Given the description of an element on the screen output the (x, y) to click on. 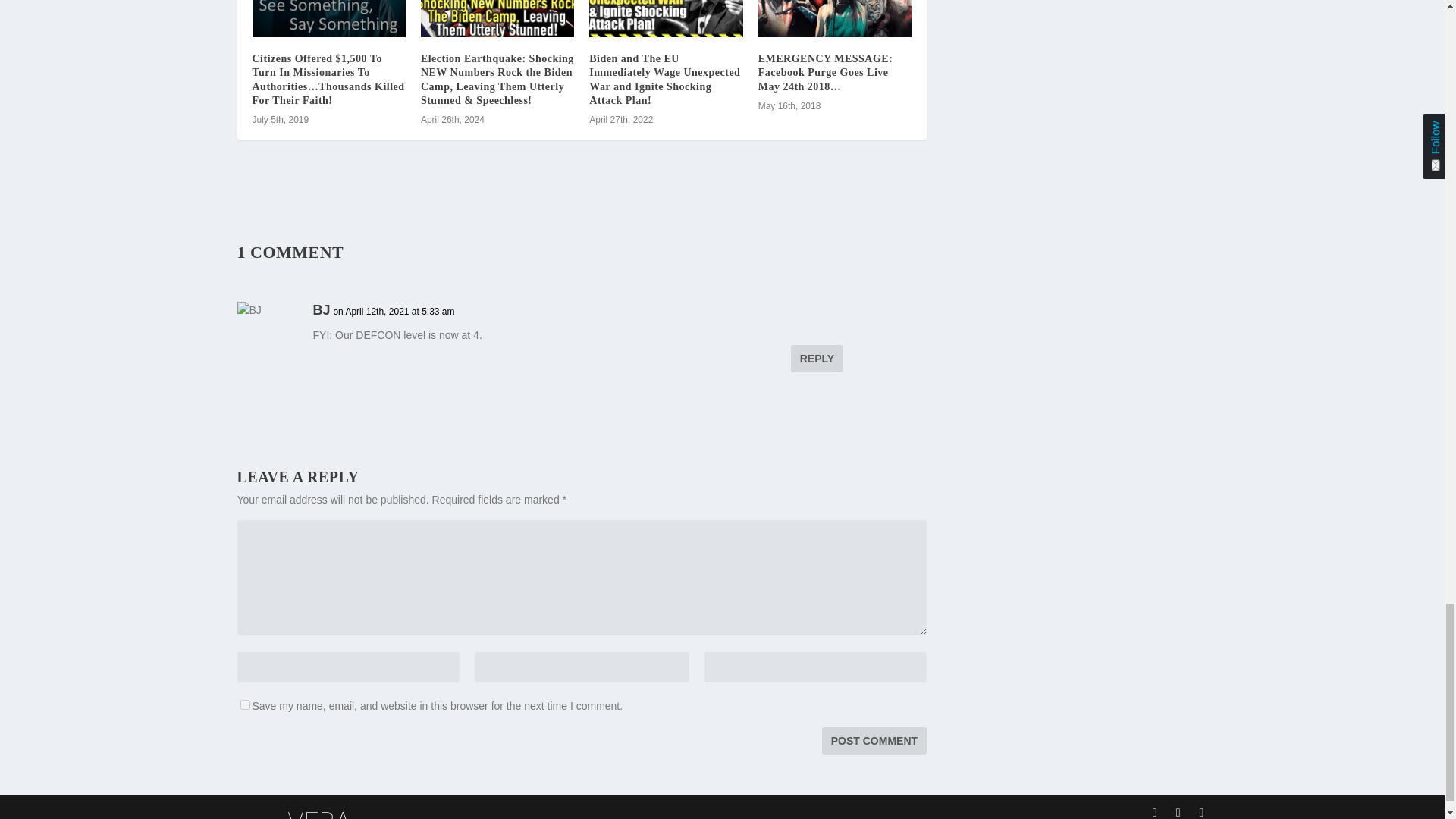
Post Comment (874, 740)
yes (244, 705)
